Given the description of an element on the screen output the (x, y) to click on. 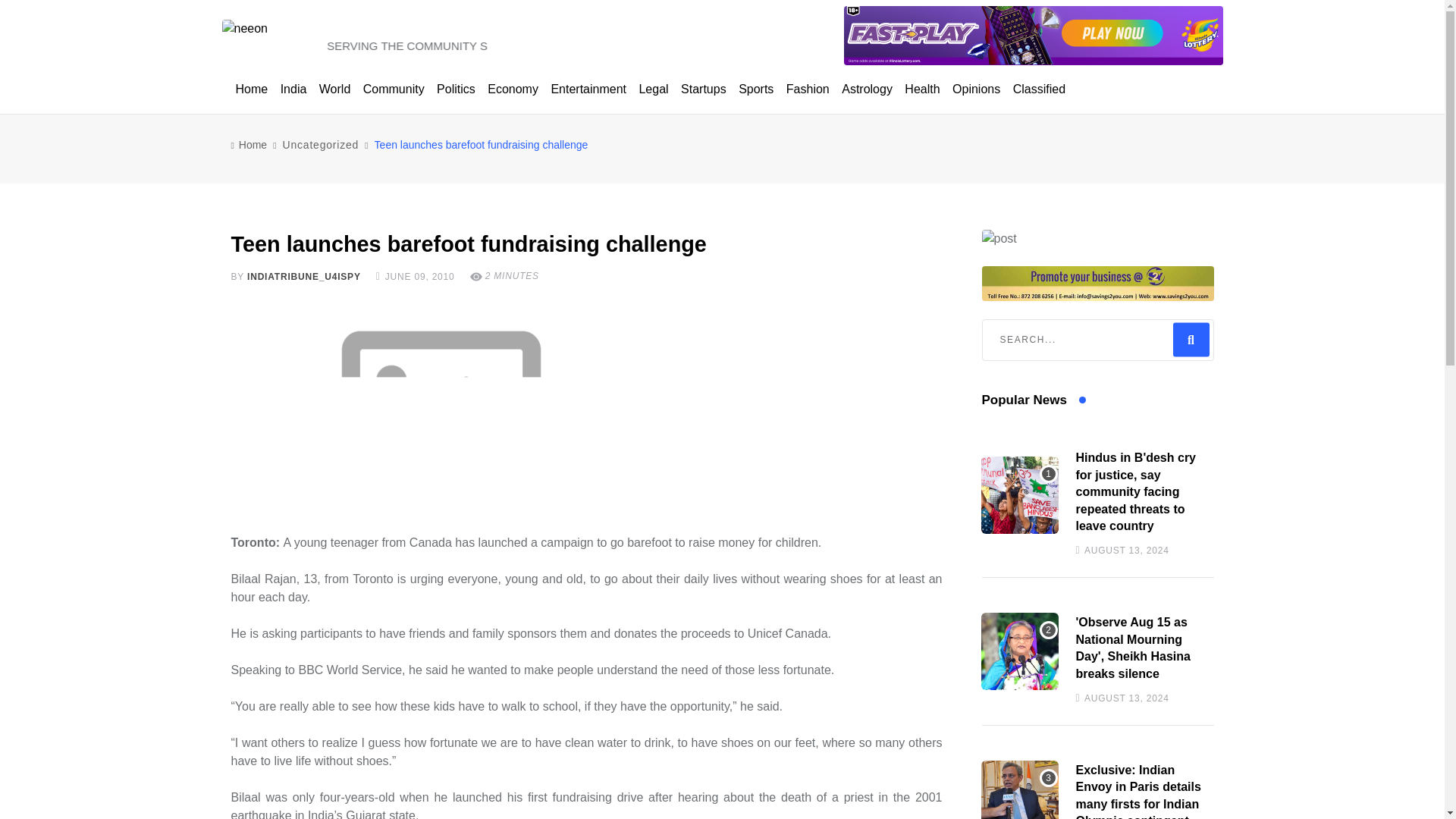
Astrology (866, 89)
Classified (1039, 89)
Entertainment (588, 89)
Economy (513, 89)
Community (393, 89)
Sports (755, 89)
Startups (703, 89)
Politics (456, 89)
Health (921, 89)
Fashion (807, 89)
